Given the description of an element on the screen output the (x, y) to click on. 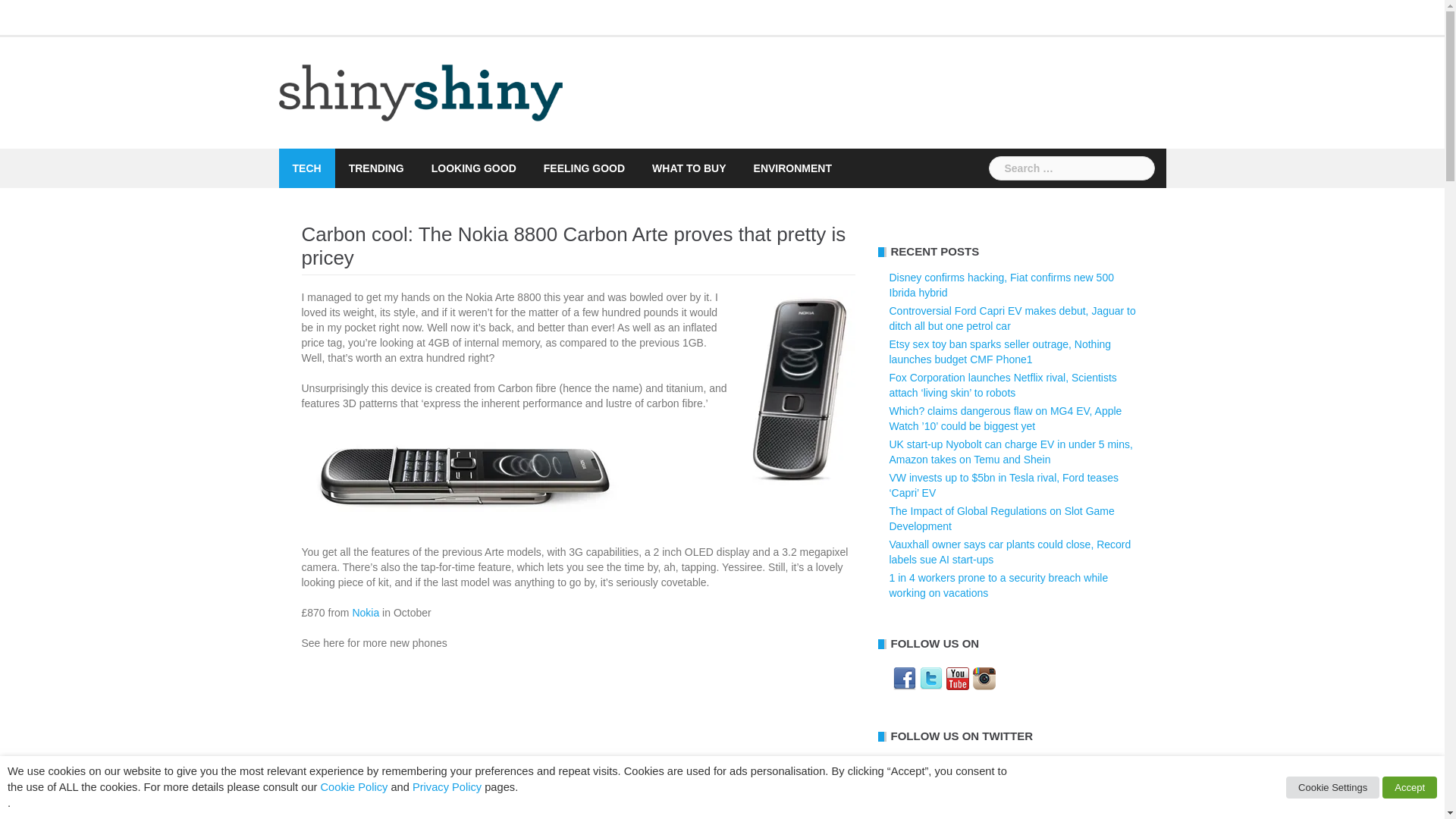
LOOKING GOOD (473, 168)
WHAT TO BUY (688, 168)
ShinyShiny (421, 91)
TECH (306, 168)
FEELING GOOD (583, 168)
TRENDING (376, 168)
Advertisement (578, 742)
